Given the description of an element on the screen output the (x, y) to click on. 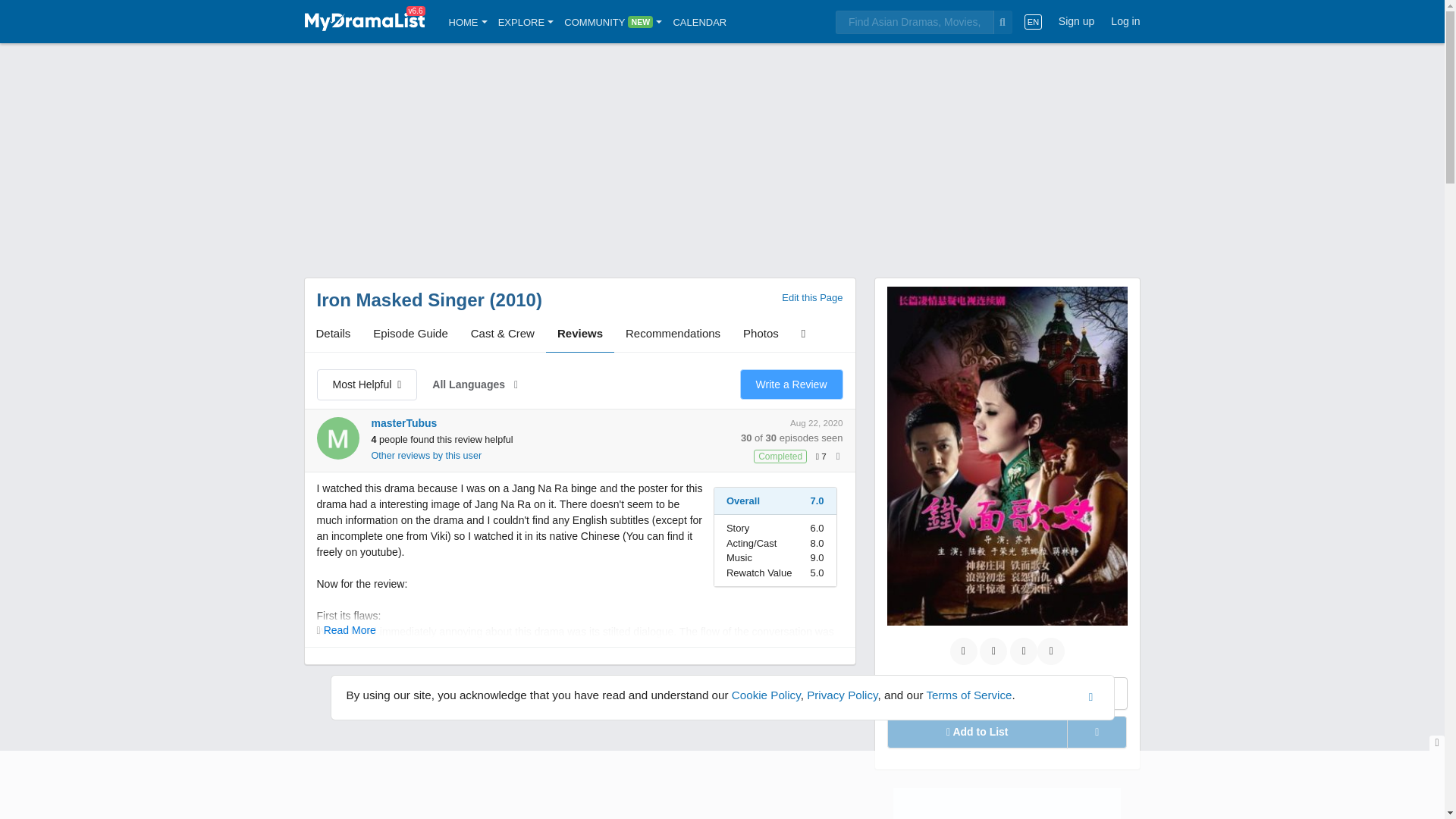
Iron Masked Singer (400, 299)
HOME (467, 21)
v6.6 (364, 21)
